Given the description of an element on the screen output the (x, y) to click on. 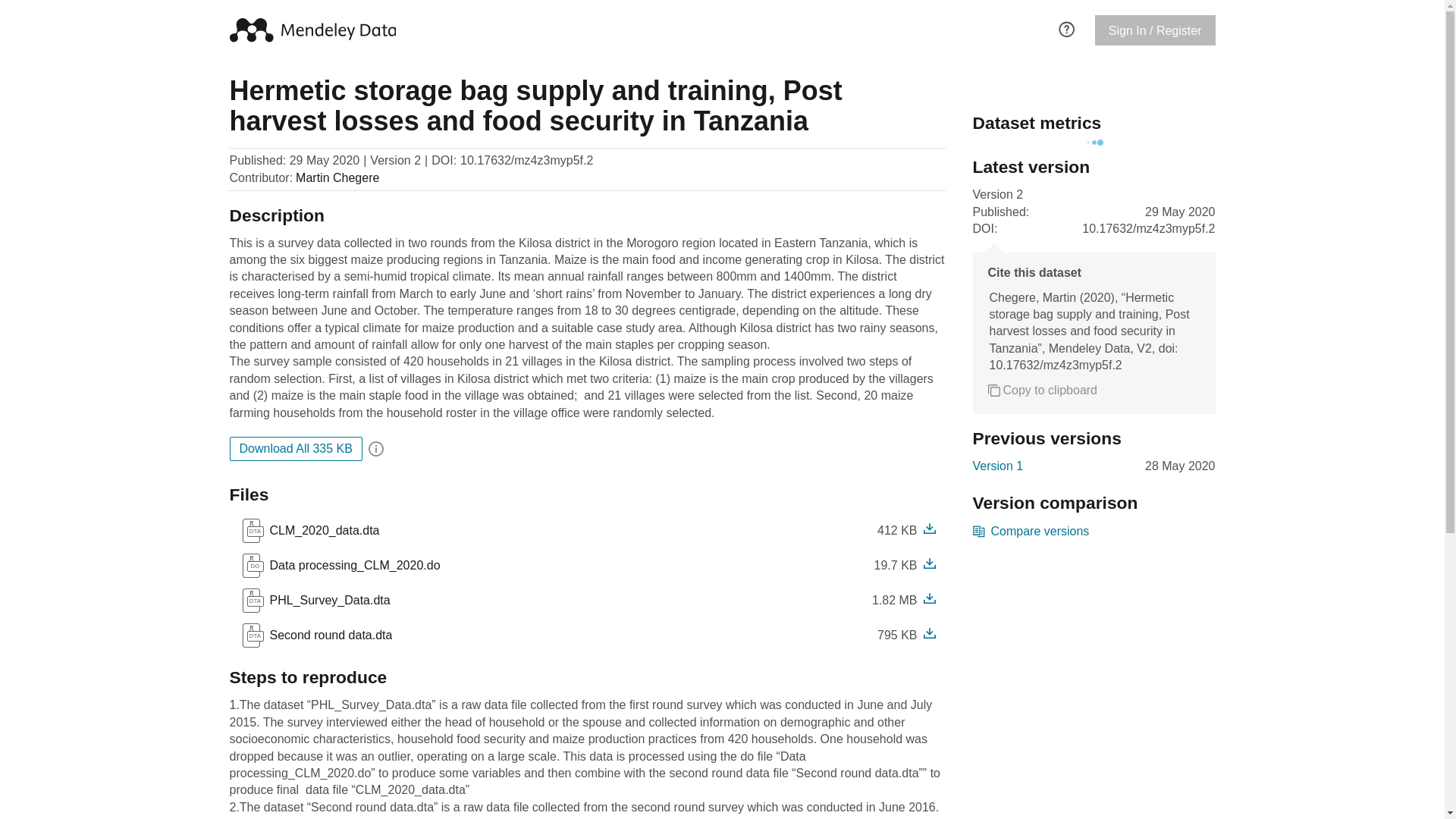
Compare versions (1030, 531)
Copy to clipboard (1042, 390)
Version 1 (997, 466)
Second round data.dta (328, 635)
FAQ (1066, 27)
Download All 335 KB (316, 635)
